Given the description of an element on the screen output the (x, y) to click on. 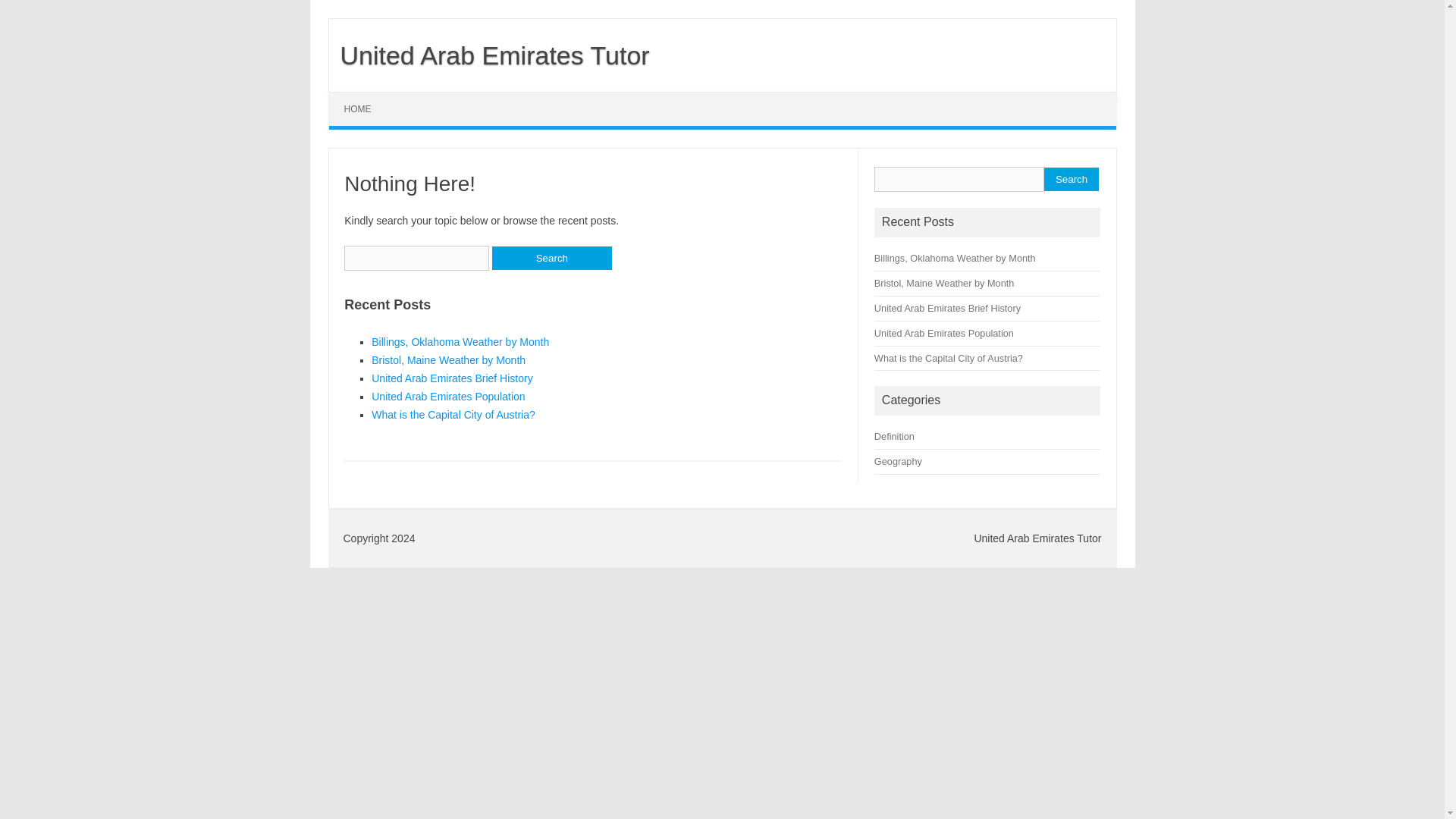
Search (1070, 178)
What is the Capital City of Austria? (453, 414)
United Arab Emirates Population (447, 396)
Skip to content (363, 96)
Skip to content (363, 96)
United Arab Emirates Tutor (489, 54)
Bristol, Maine Weather by Month (944, 283)
United Arab Emirates Brief History (451, 378)
Bristol, Maine Weather by Month (448, 359)
Geography (898, 460)
